Given the description of an element on the screen output the (x, y) to click on. 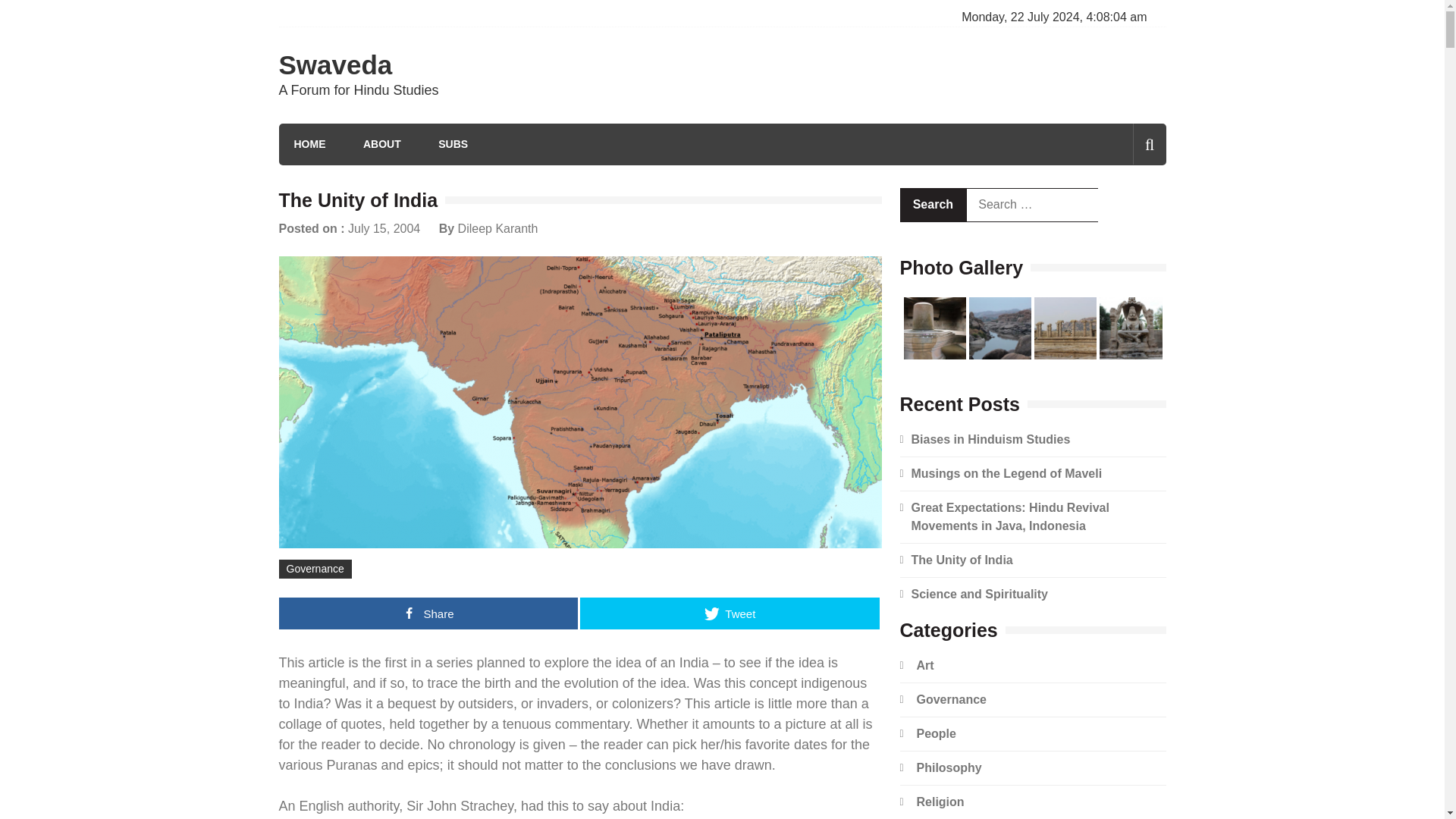
Swaveda (336, 64)
Search (941, 208)
ABOUT (381, 144)
Search (932, 204)
Governance (950, 698)
July 15, 2004 (383, 228)
Posts by Dileep Karanth (498, 228)
Search (932, 204)
Musings on the Legend of Maveli (1006, 472)
Search (932, 204)
Dileep Karanth (498, 228)
People (935, 733)
Religion (939, 801)
Biases in Hinduism Studies (990, 439)
Share (428, 613)
